Given the description of an element on the screen output the (x, y) to click on. 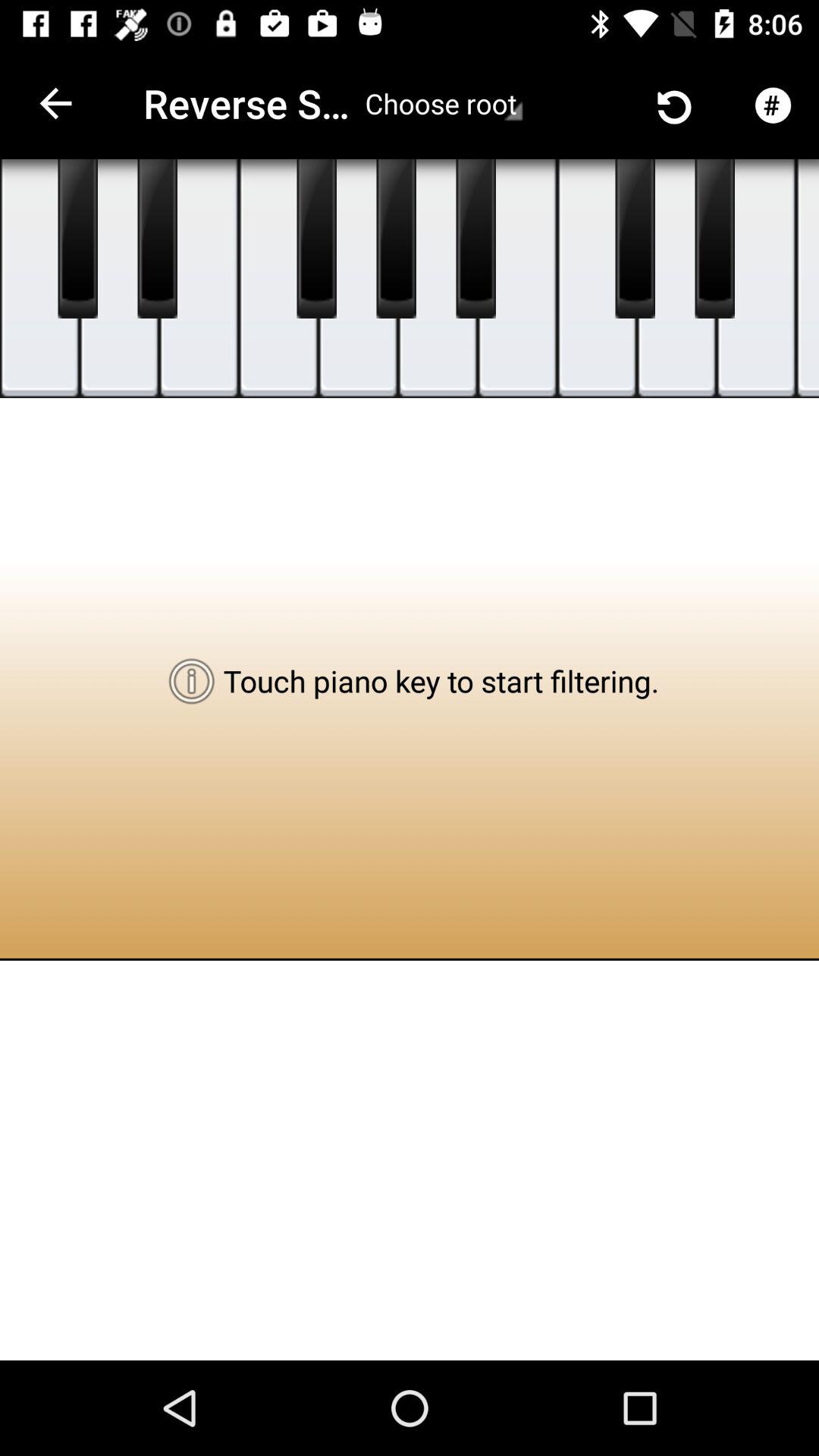
select piano chord (676, 278)
